Given the description of an element on the screen output the (x, y) to click on. 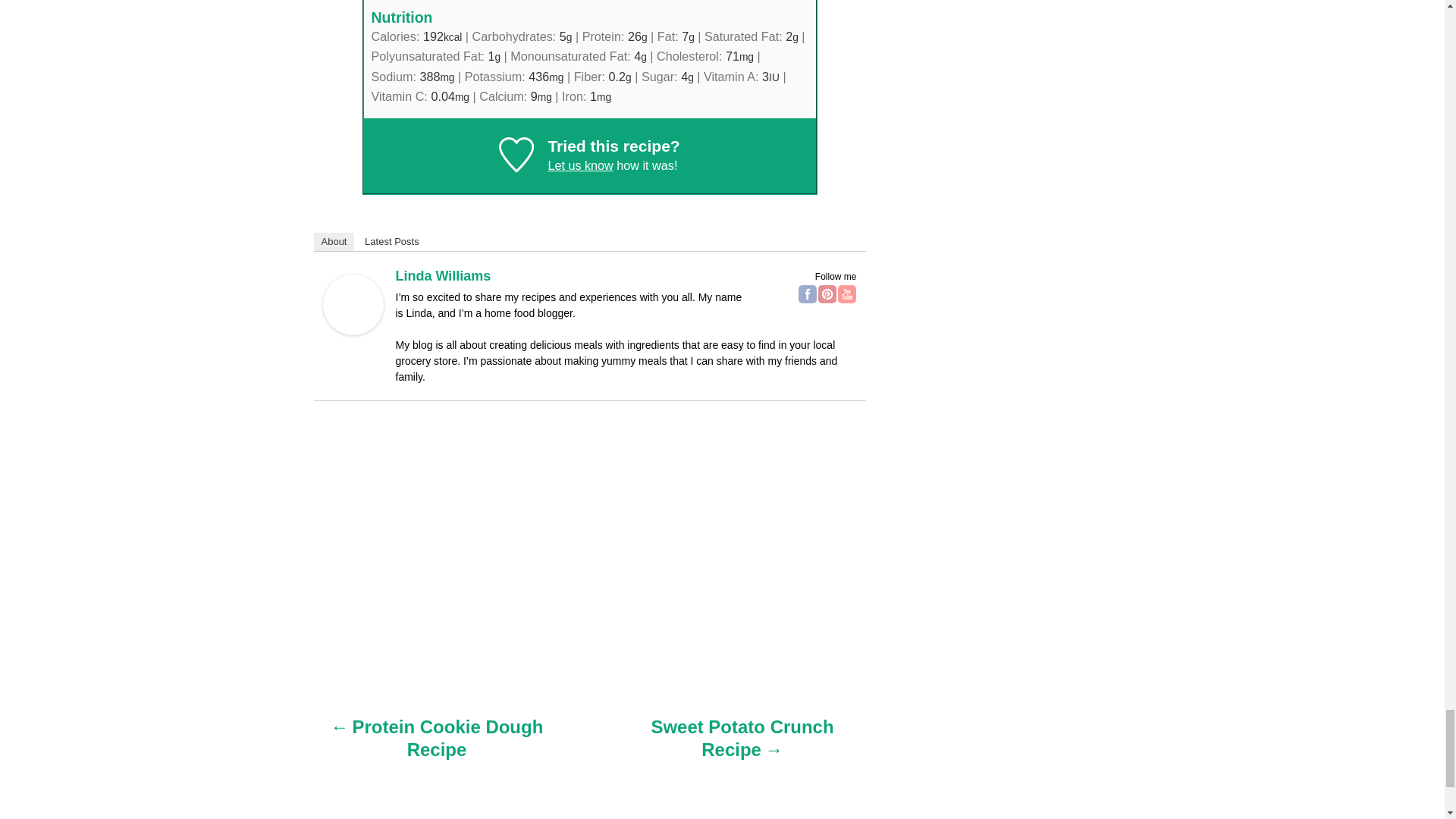
Linda Williams (353, 330)
YouTube (846, 294)
Facebook (806, 294)
Pinterest (825, 294)
